Given the description of an element on the screen output the (x, y) to click on. 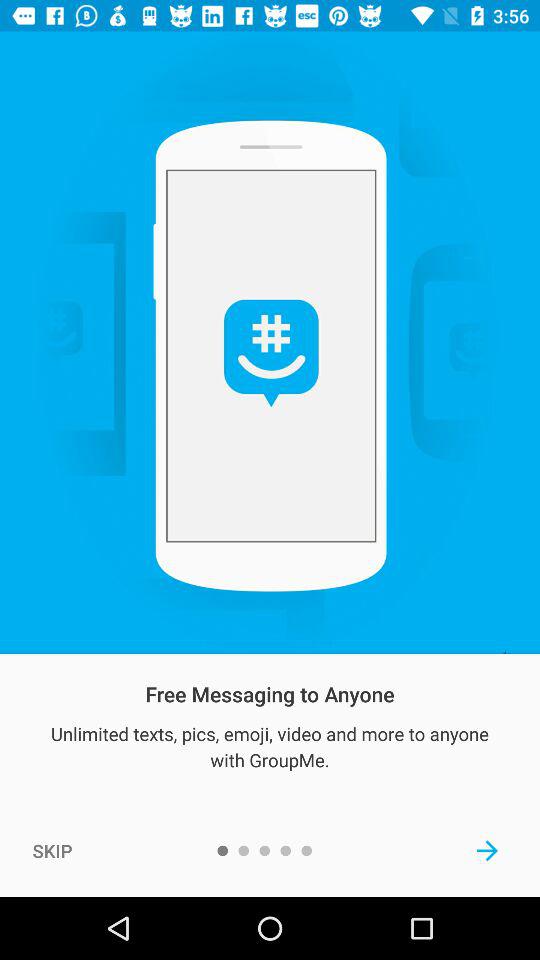
turn off the item to the right of skip item (487, 850)
